Given the description of an element on the screen output the (x, y) to click on. 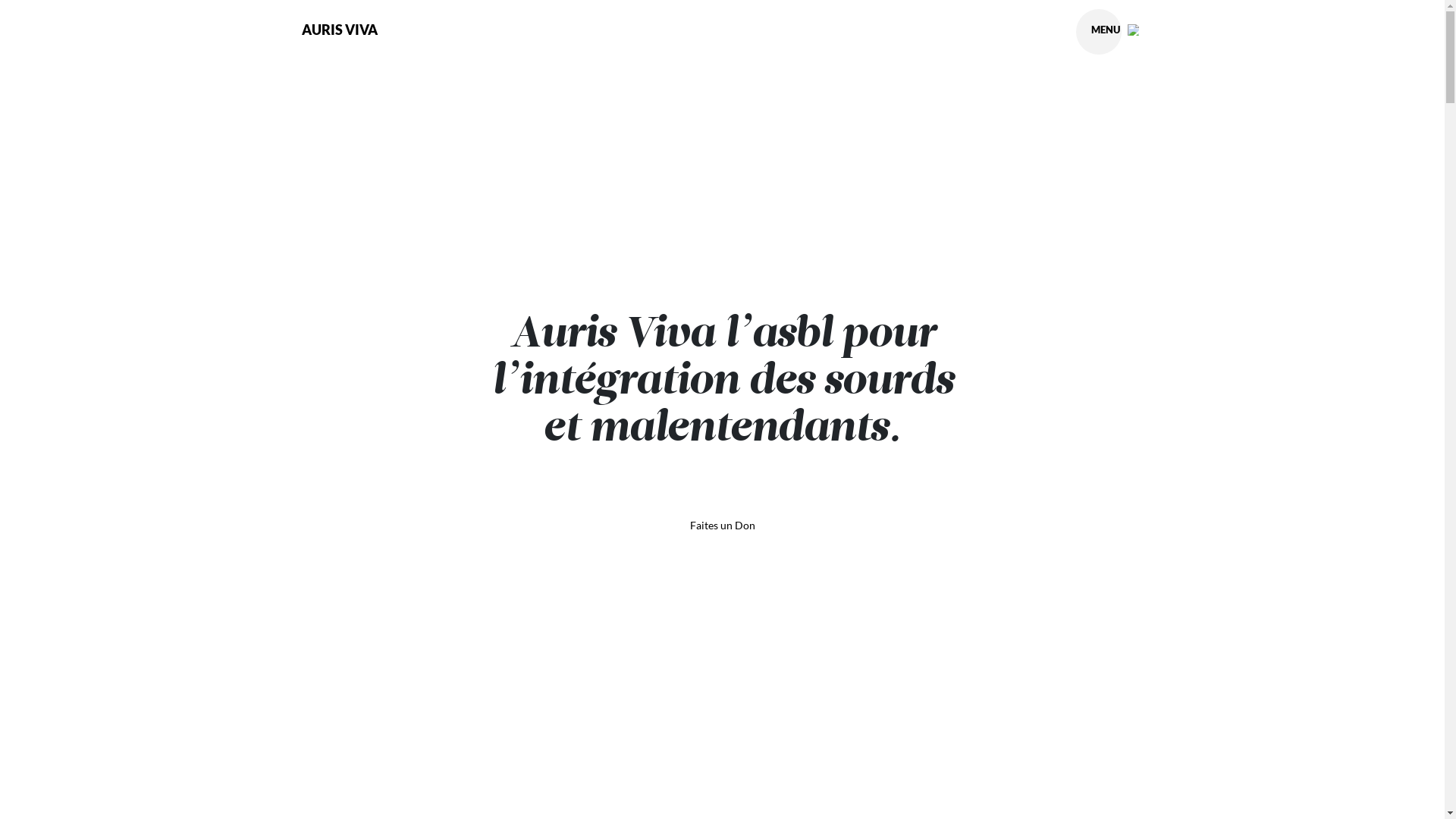
MENU Element type: text (1113, 28)
Faites un Don Element type: text (722, 525)
AURIS VIVA Element type: text (339, 29)
